Given the description of an element on the screen output the (x, y) to click on. 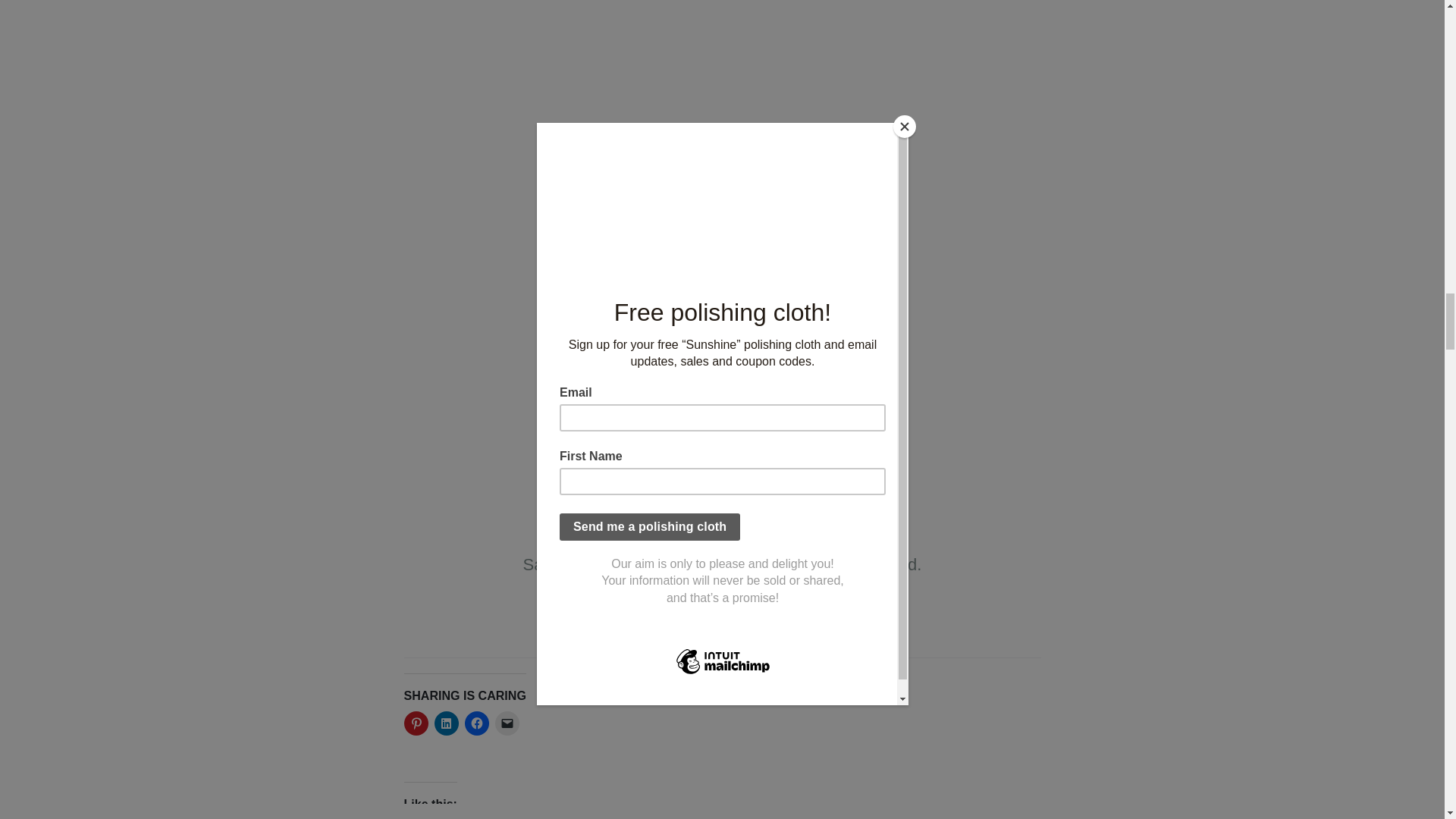
Click to email a link to a friend (506, 723)
Click to share on Facebook (475, 723)
Click to share on Pinterest (415, 723)
Click to share on LinkedIn (445, 723)
